Given the description of an element on the screen output the (x, y) to click on. 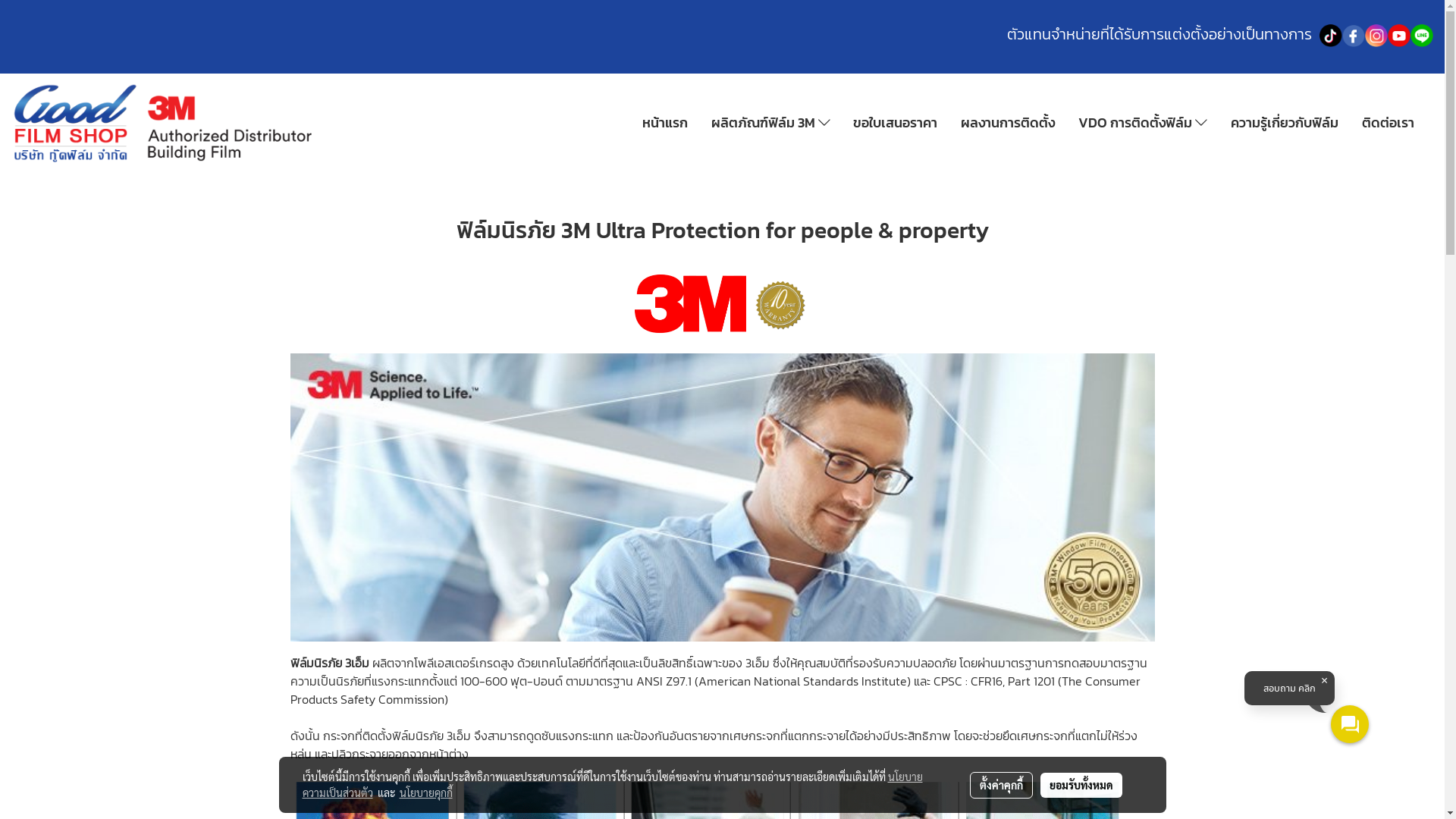
logo Element type: hover (162, 122)
